Given the description of an element on the screen output the (x, y) to click on. 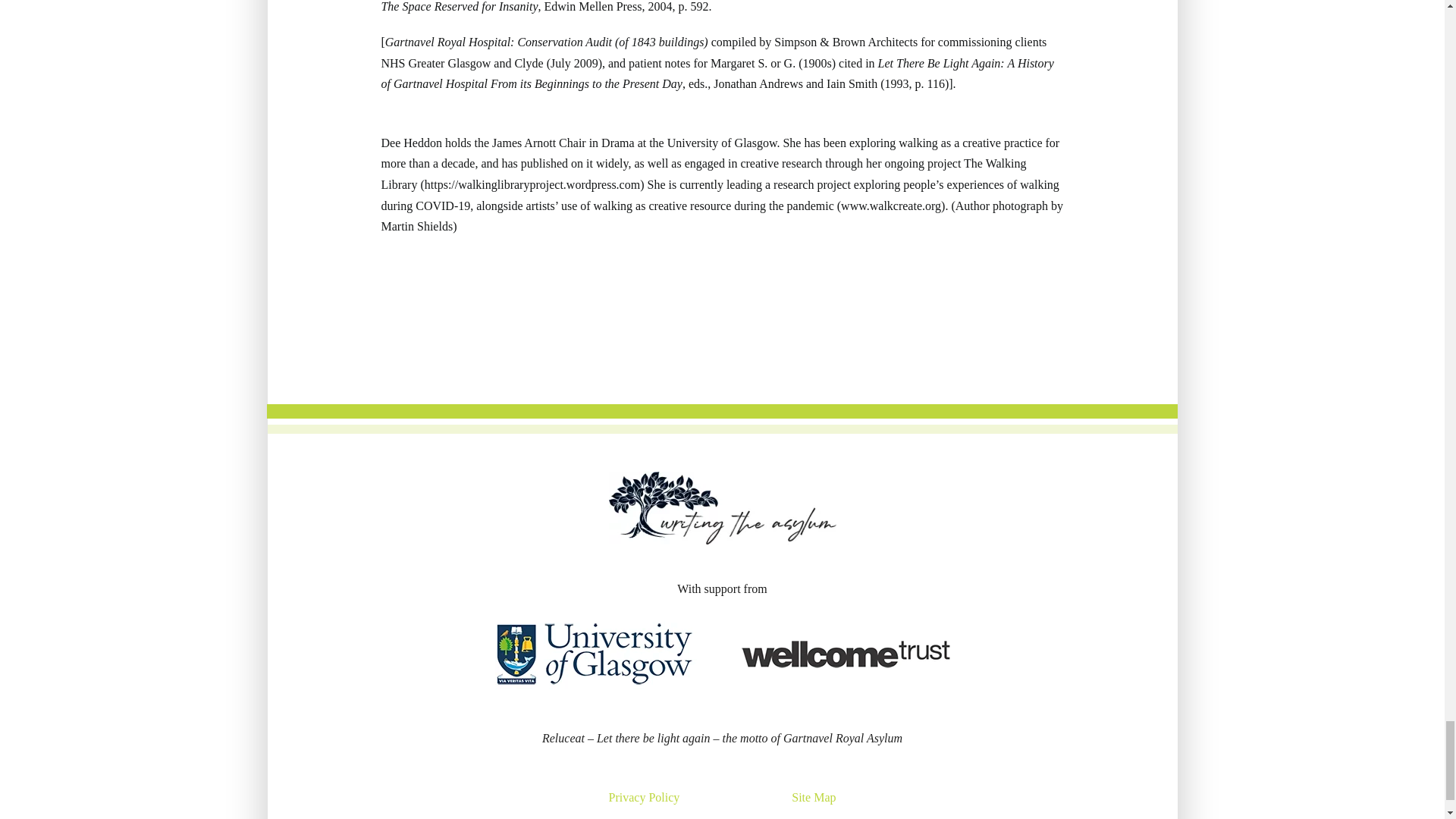
www.walkcreate.org (890, 205)
Site Map (813, 797)
Privacy Policy (643, 797)
